Given the description of an element on the screen output the (x, y) to click on. 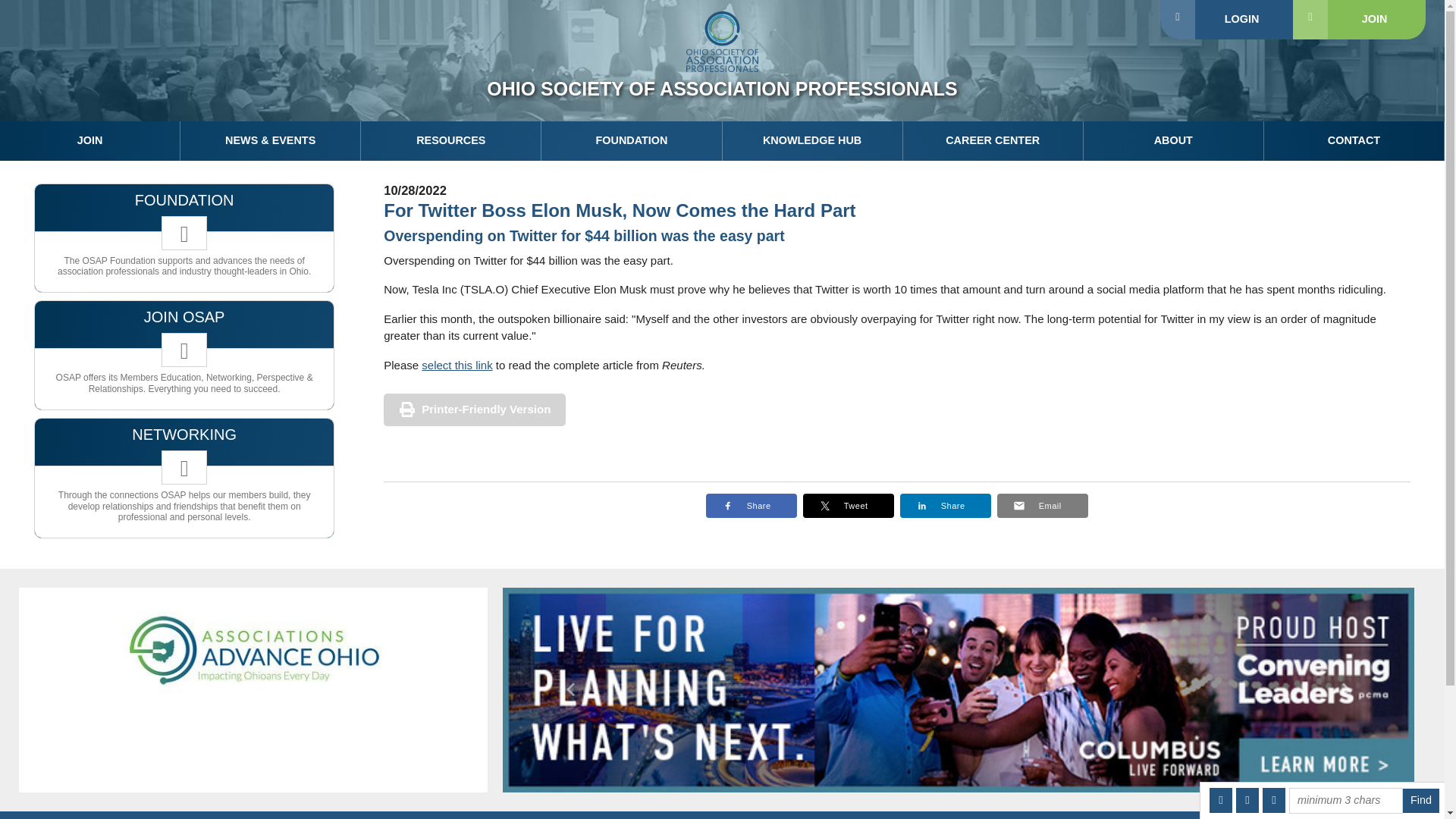
RESOURCES (451, 140)
Find (1421, 800)
JOIN (1358, 19)
ABOUT (1173, 140)
JOIN (90, 140)
FOUNDATION (631, 140)
Find (1421, 800)
LOGIN (1226, 19)
Find (1421, 800)
KNOWLEDGE HUB (812, 140)
CAREER CENTER (992, 140)
